Given the description of an element on the screen output the (x, y) to click on. 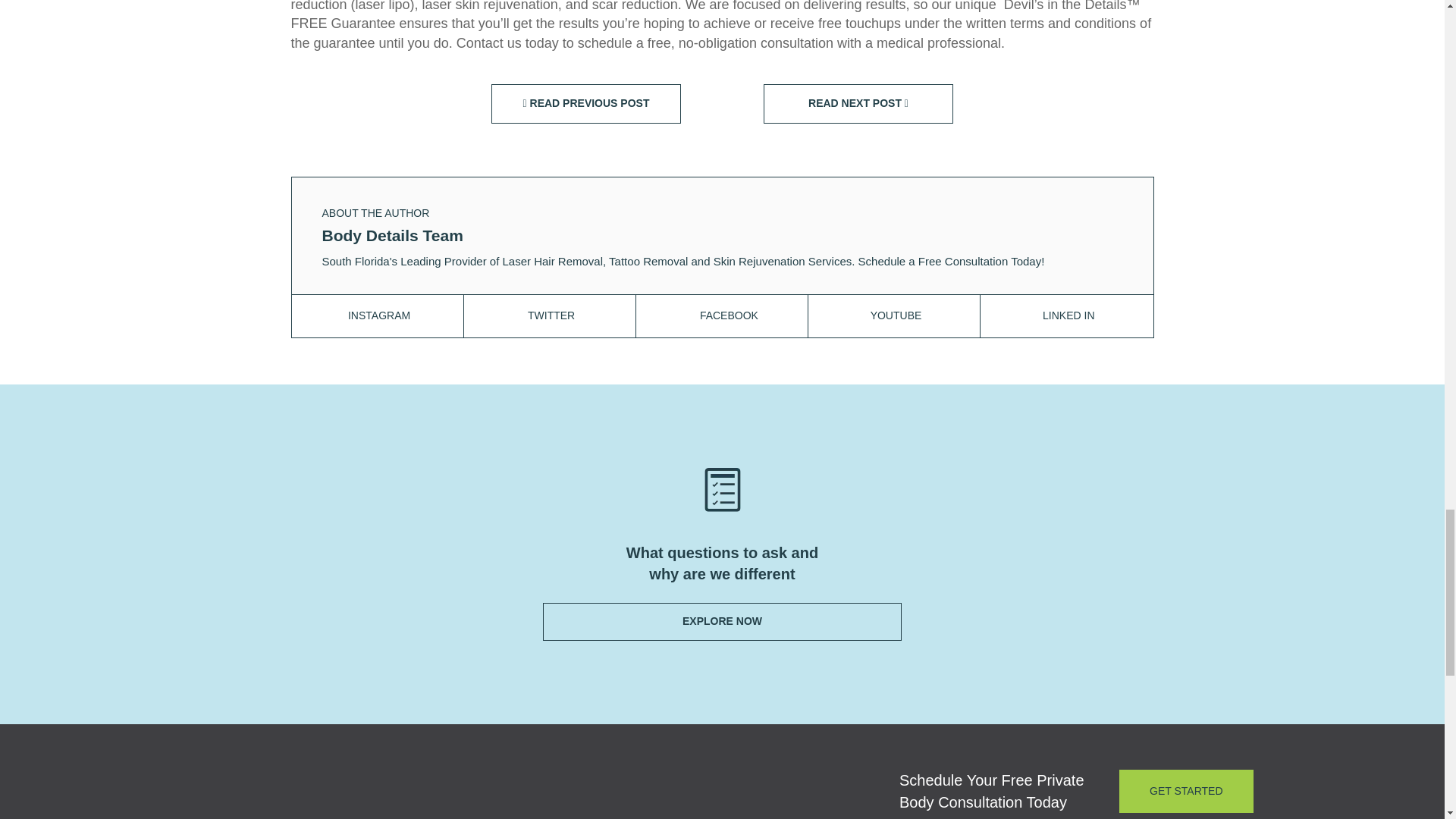
Follow on Twitter (551, 315)
Follow on Facebook (729, 315)
Follow on Instagram (378, 315)
Follow on Youtube (895, 315)
Follow on Linkedin (1068, 315)
